Given the description of an element on the screen output the (x, y) to click on. 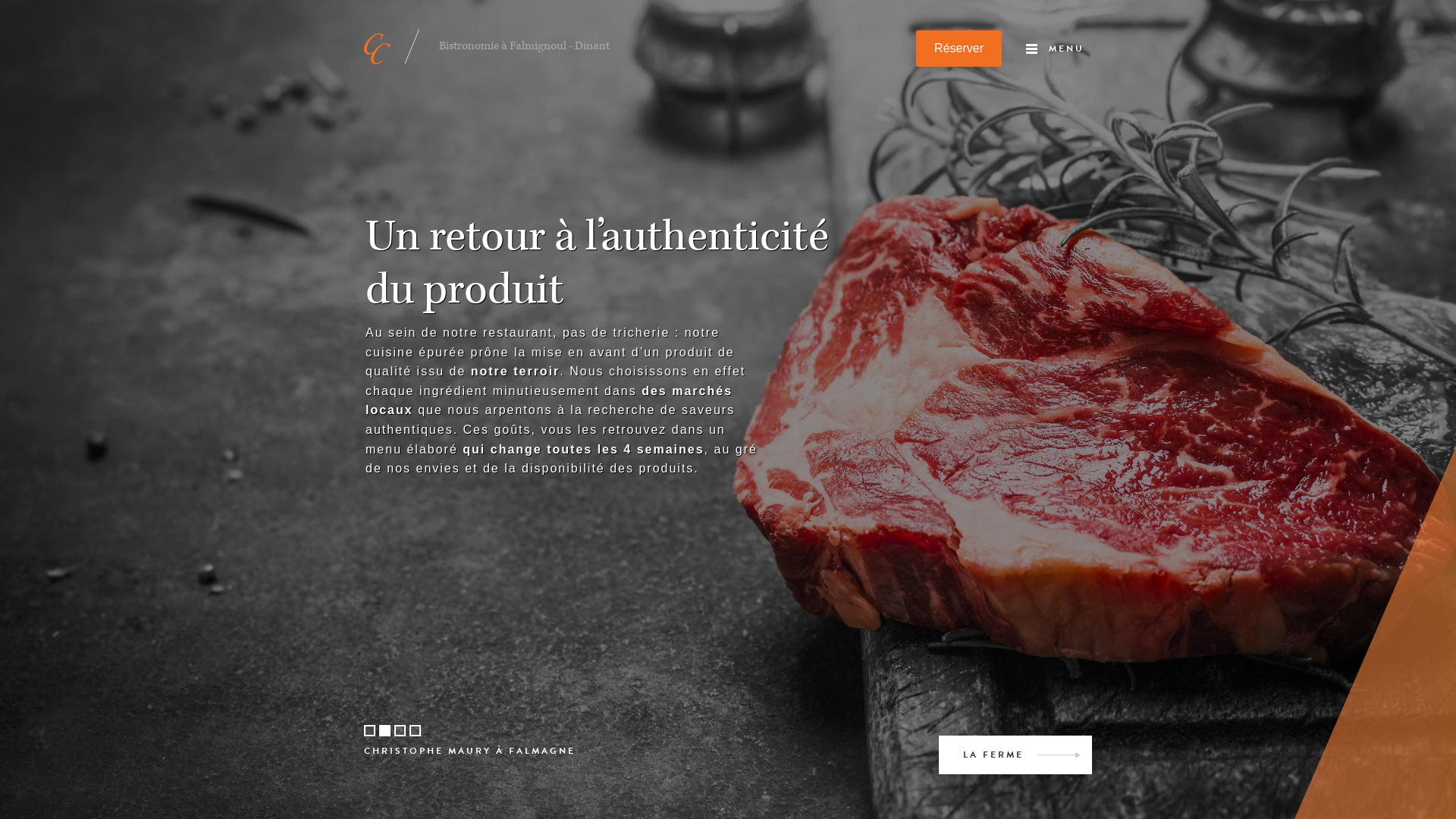
CCnomie Element type: text (640, 48)
4 Element type: text (414, 730)
LA FERME Element type: text (1015, 754)
MENU Element type: text (1059, 48)
2 Element type: text (384, 730)
3 Element type: text (399, 730)
1 Element type: text (369, 730)
